Given the description of an element on the screen output the (x, y) to click on. 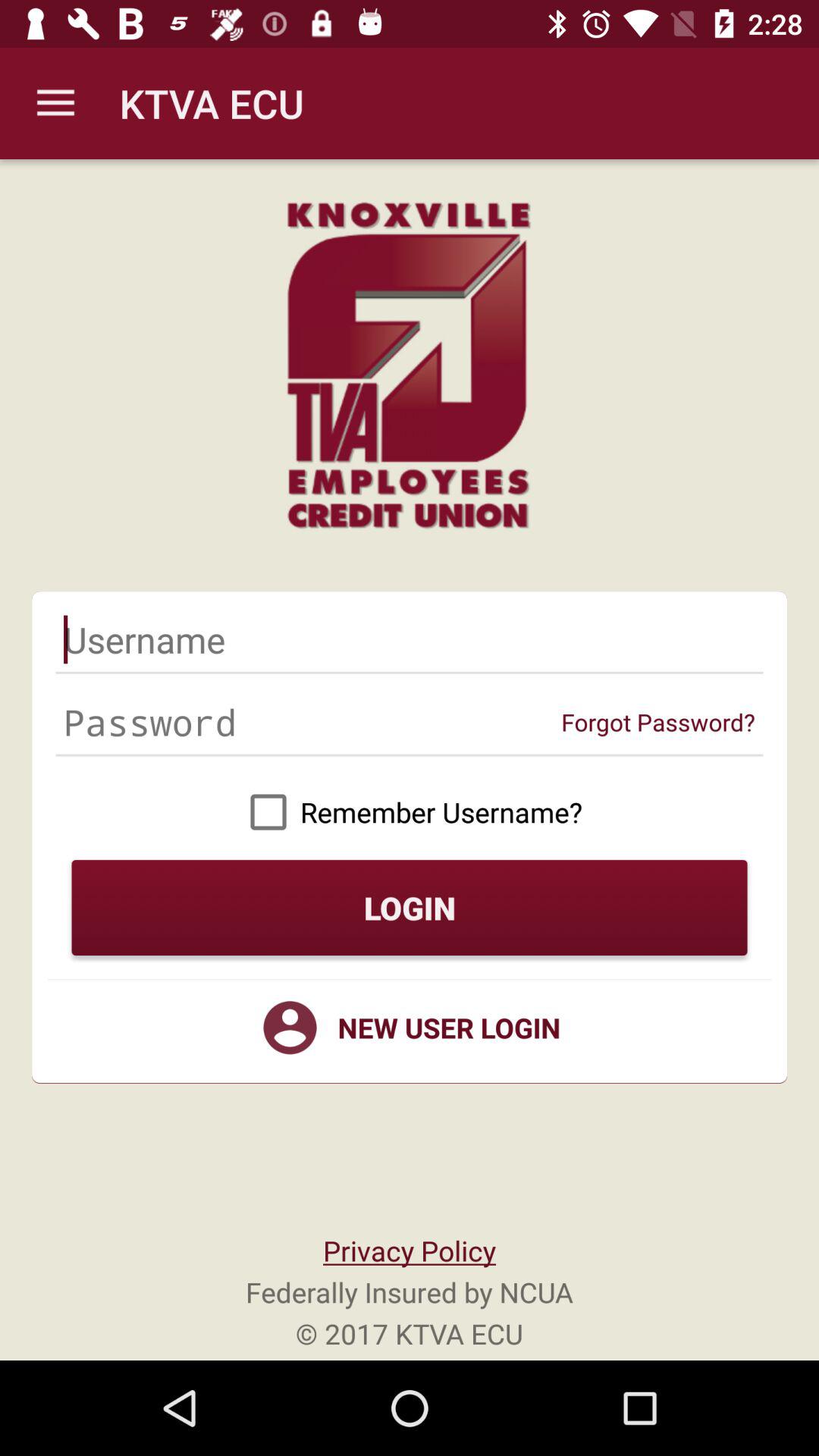
click the item on the right (658, 721)
